Given the description of an element on the screen output the (x, y) to click on. 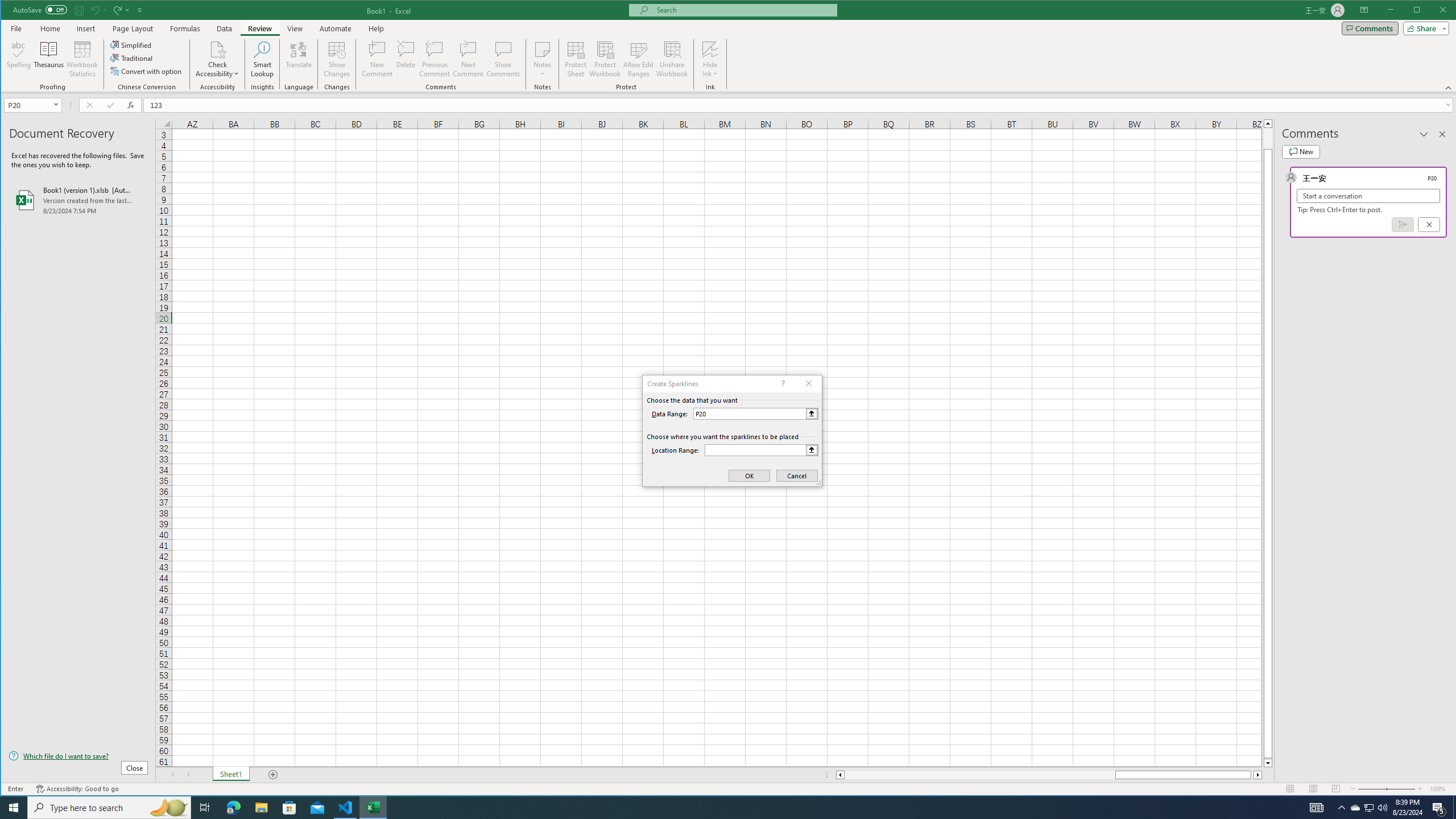
Delete (405, 59)
Page up (1267, 138)
Previous Comment (434, 59)
Show Changes (335, 59)
